Given the description of an element on the screen output the (x, y) to click on. 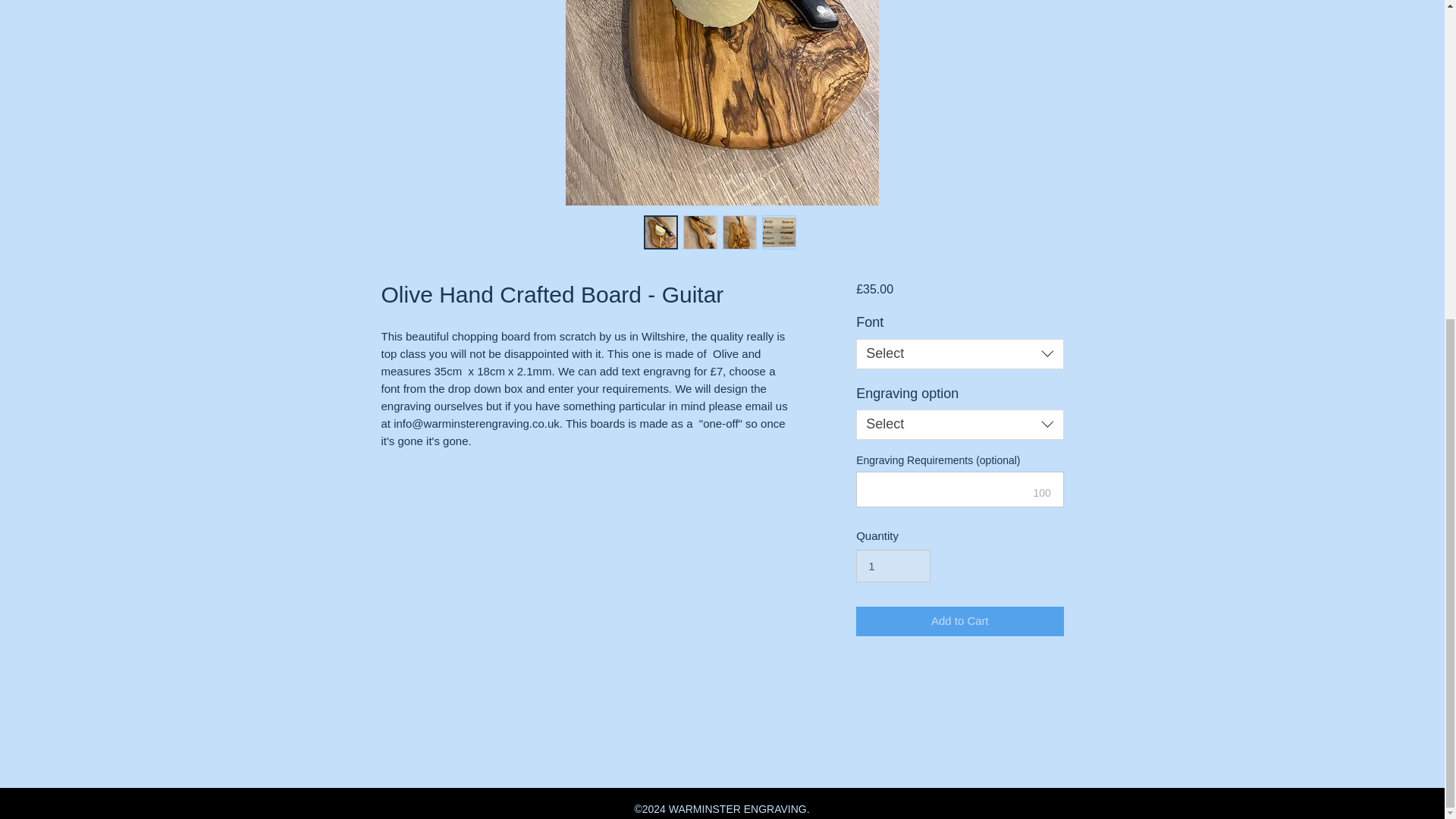
Add to Cart (959, 621)
1 (893, 566)
Select (959, 424)
Select (959, 354)
